Given the description of an element on the screen output the (x, y) to click on. 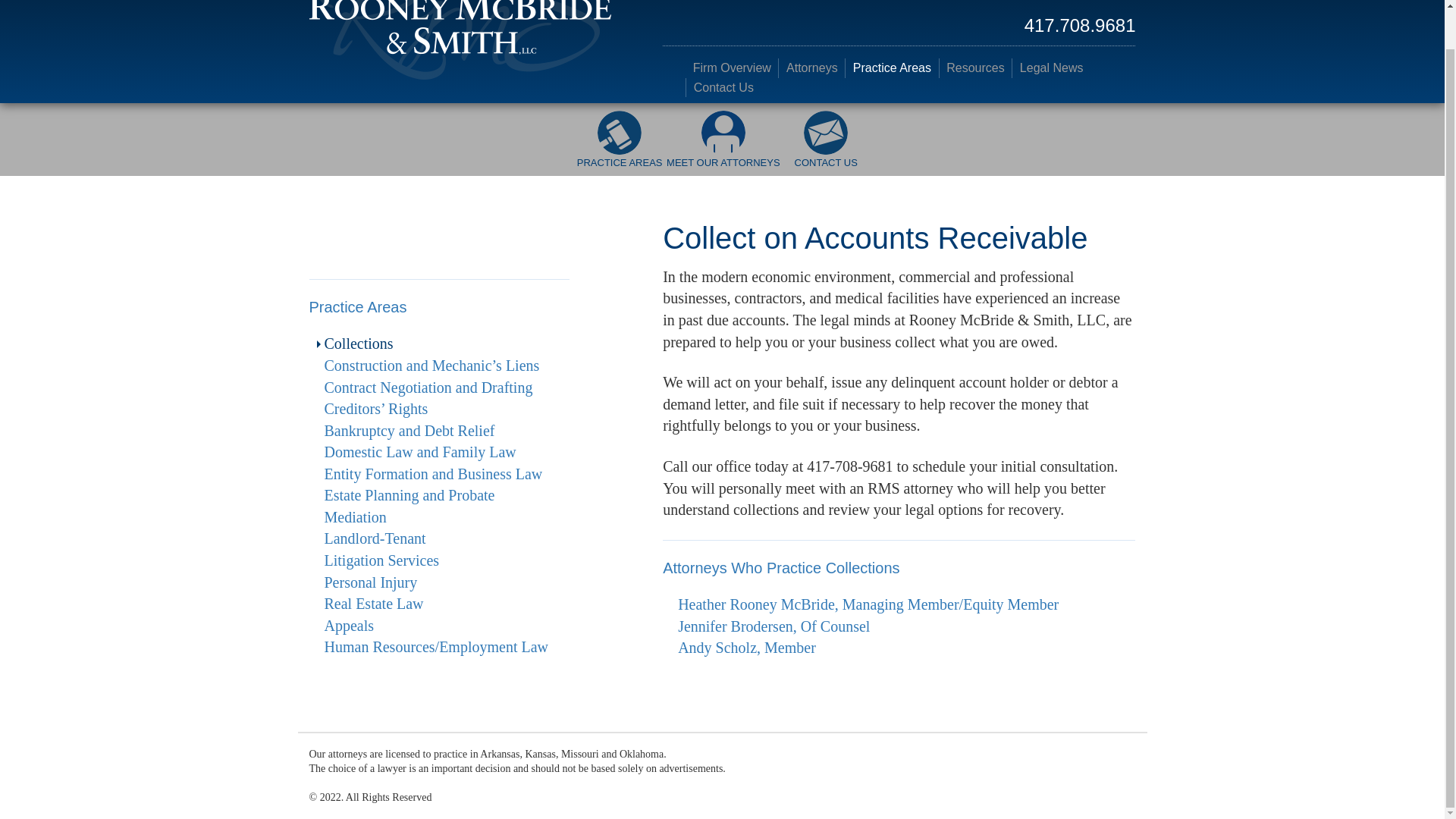
Practice Areas (891, 67)
Contact Us (722, 87)
Domestic Law and Family Law (420, 451)
Mediation (355, 516)
Entity Formation and Business Law (433, 474)
CONTACT US (825, 147)
Andy Scholz, Member (746, 647)
Collections (358, 343)
Litigation Services (381, 560)
PRACTICE AREAS (619, 147)
Practice Areas (357, 306)
Estate Planning and Probate (409, 494)
Personal Injury (370, 582)
Firm Overview (731, 67)
